Given the description of an element on the screen output the (x, y) to click on. 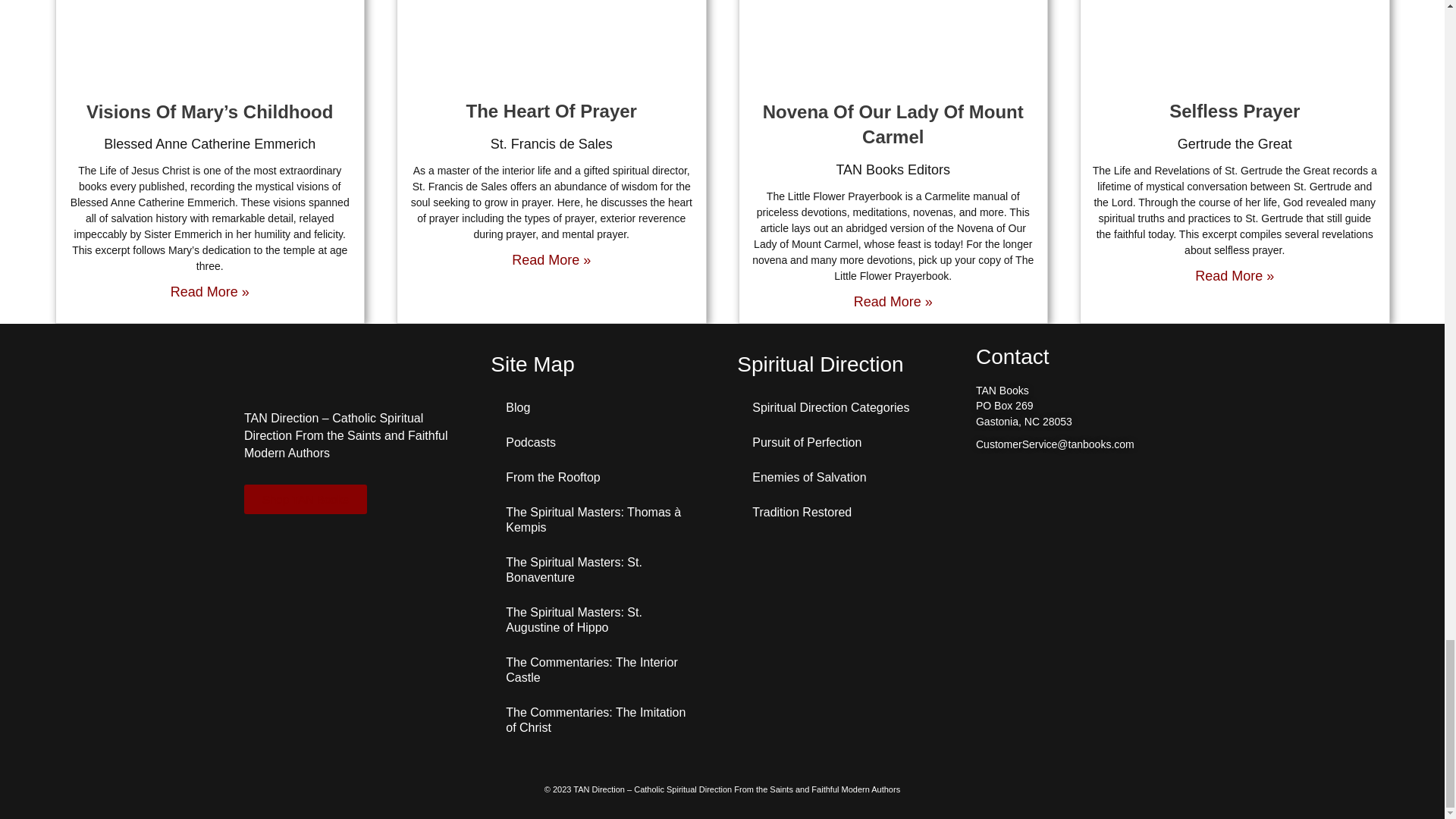
The Spiritual Masters: St. Bonaventure (598, 570)
The Heart Of Prayer (551, 110)
From the Rooftop (598, 477)
Podcasts (598, 442)
Novena Of Our Lady Of Mount Carmel (892, 123)
Shop TAN Books (305, 499)
Selfless Prayer (1234, 110)
Blog (598, 407)
